Given the description of an element on the screen output the (x, y) to click on. 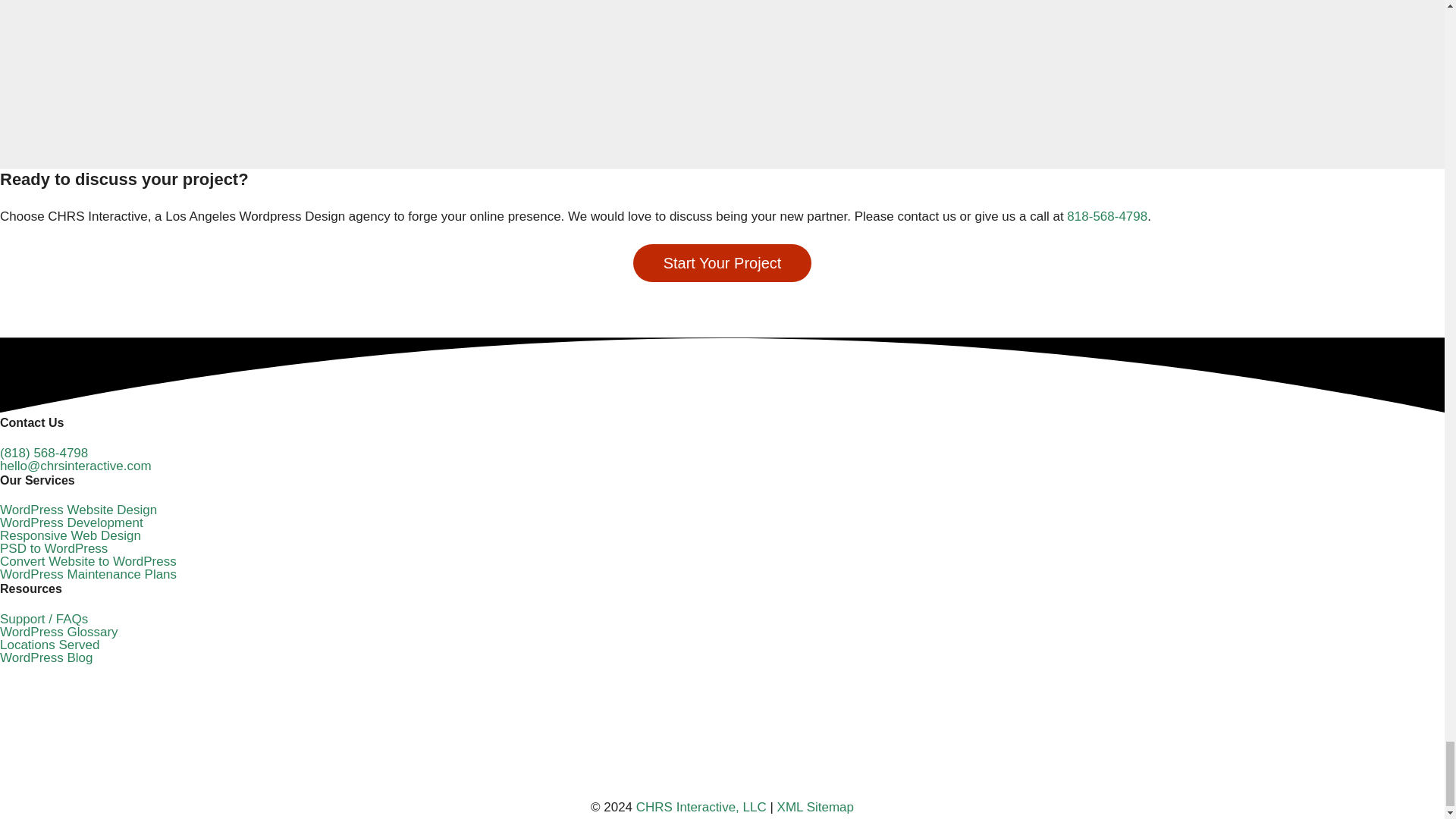
WordPress Development (71, 522)
WordPress Website Design (78, 509)
Responsive Web Design (70, 535)
